Given the description of an element on the screen output the (x, y) to click on. 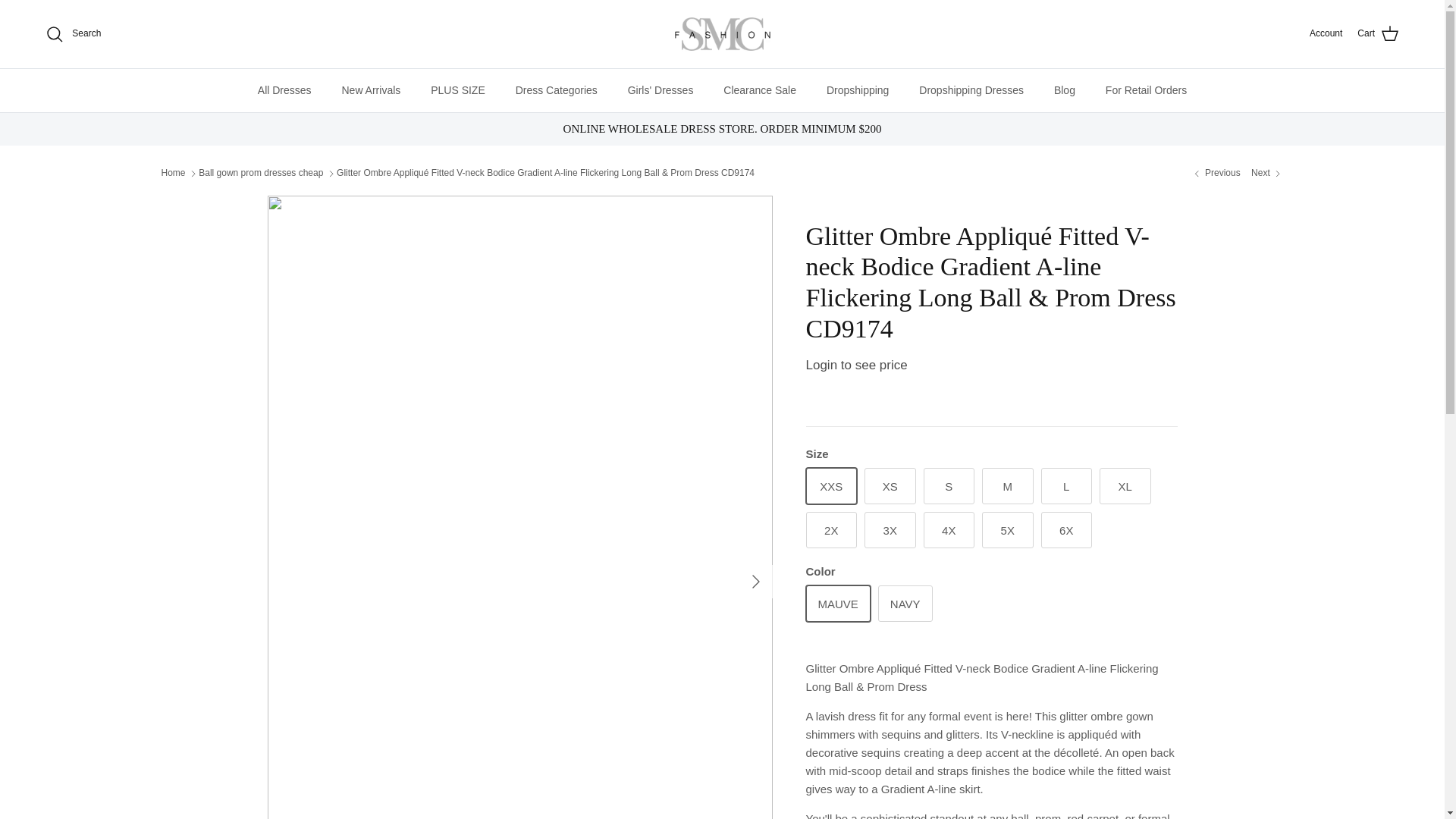
New Arrivals (370, 89)
All Dresses (284, 89)
PLUS SIZE (457, 89)
Dress Categories (556, 89)
Dropshipping (857, 89)
Clearance Sale (759, 89)
Dropshipping Dresses (970, 89)
smcfashion.com (721, 34)
Cart (1377, 34)
Account (1325, 33)
